Given the description of an element on the screen output the (x, y) to click on. 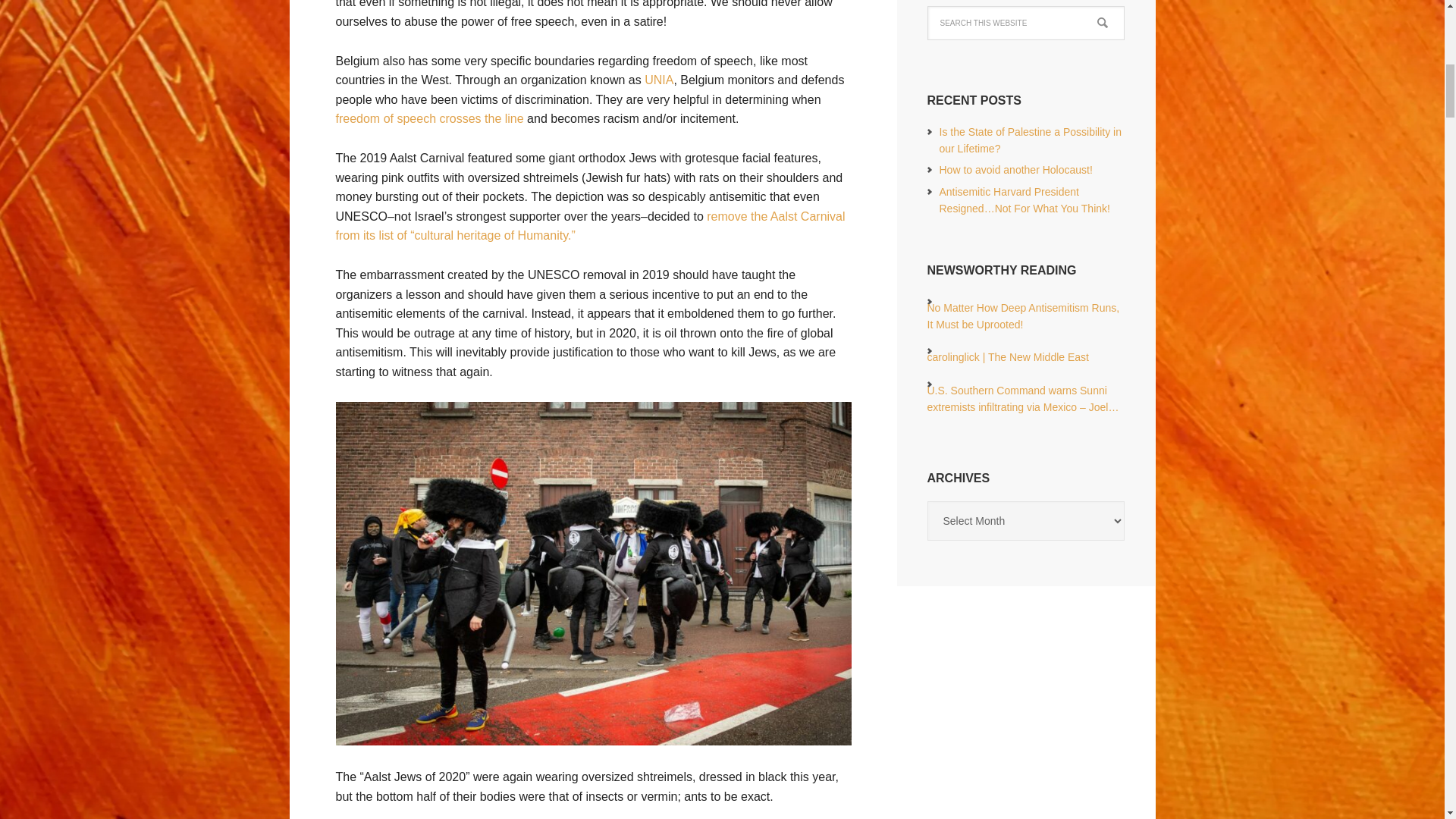
freedom of speech crosses the line (428, 118)
UNIA (658, 79)
